Given the description of an element on the screen output the (x, y) to click on. 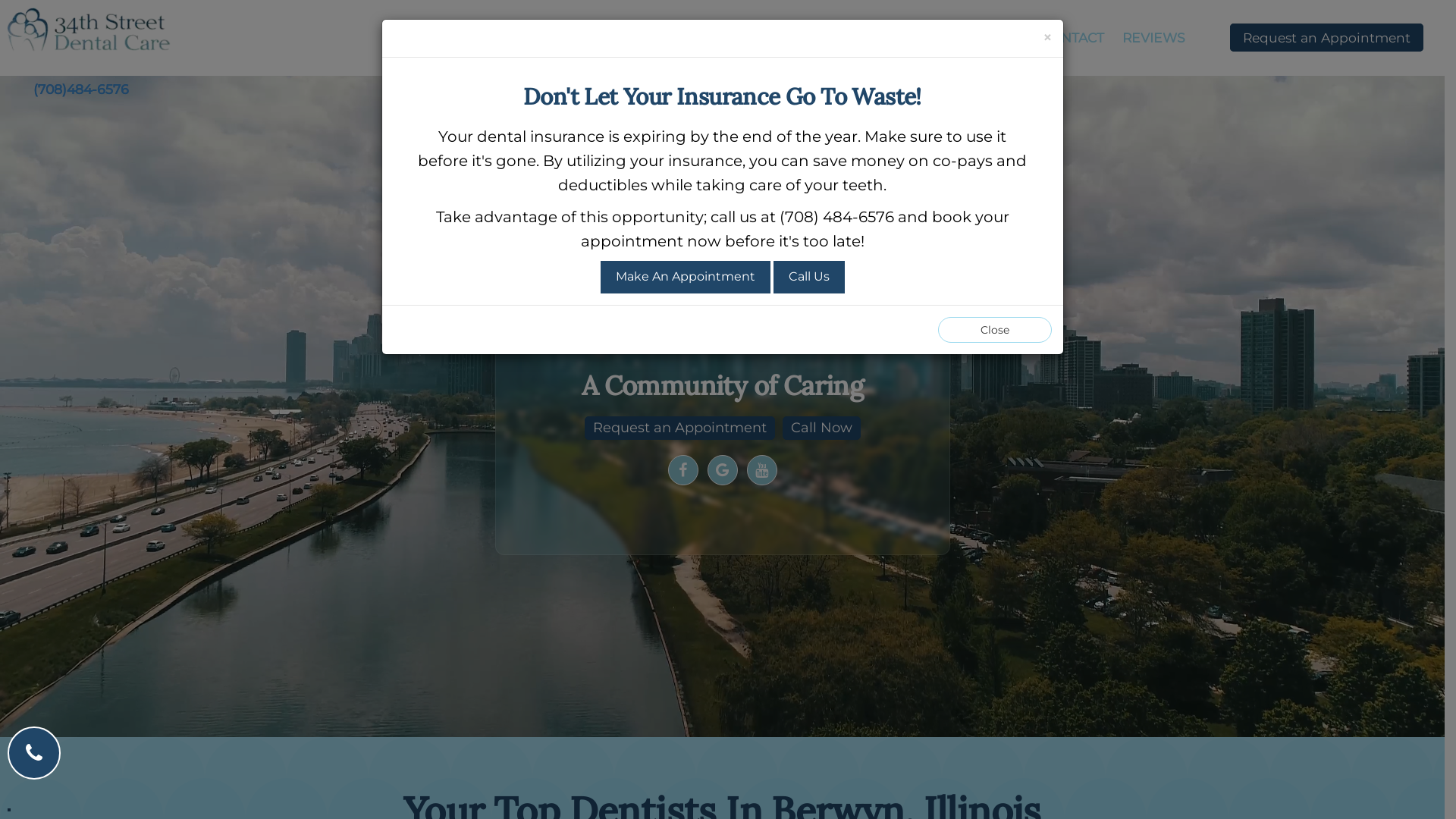
Close Element type: text (994, 329)
Request an Appointment Element type: text (1326, 37)
IMPLANT DENTISTRY Element type: text (829, 37)
ABOUT US Element type: text (594, 37)
Request an Appointment Element type: text (678, 428)
Call Us Element type: text (808, 276)
(708)484-6576 Element type: text (80, 89)
RESOURCES Element type: text (973, 37)
SERVICES Element type: text (695, 37)
CONTACT Element type: text (1072, 37)
Make An Appointment Element type: text (685, 276)
Call Now Element type: text (821, 428)
HOME Element type: text (512, 37)
REVIEWS Element type: text (1153, 37)
